Given the description of an element on the screen output the (x, y) to click on. 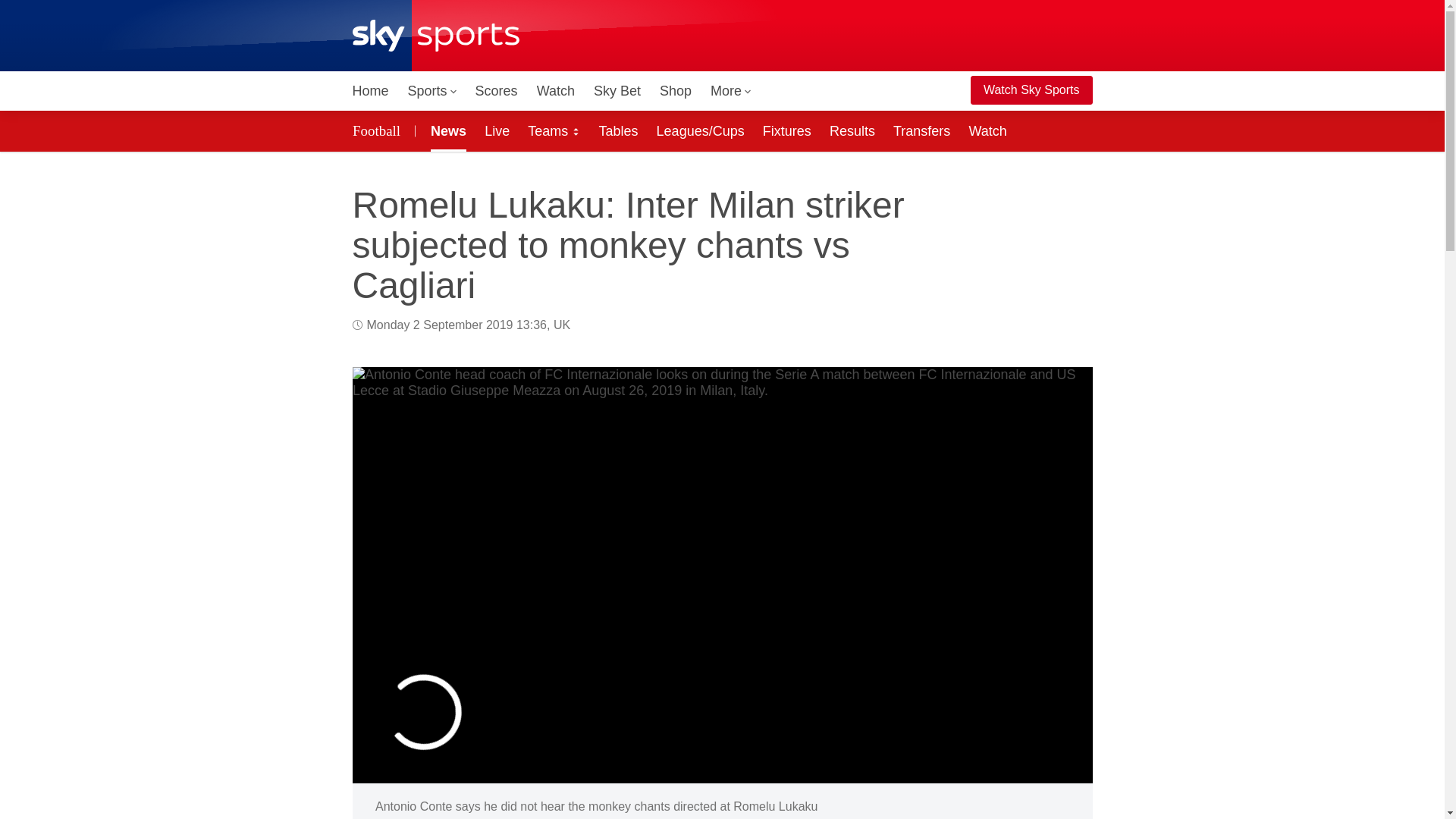
Home (369, 91)
News (445, 130)
Shop (675, 91)
Scores (496, 91)
Watch (555, 91)
Watch Sky Sports (1032, 90)
More (730, 91)
Sports (432, 91)
Live (497, 130)
Sky Bet (616, 91)
Teams (553, 130)
Football (378, 130)
